Given the description of an element on the screen output the (x, y) to click on. 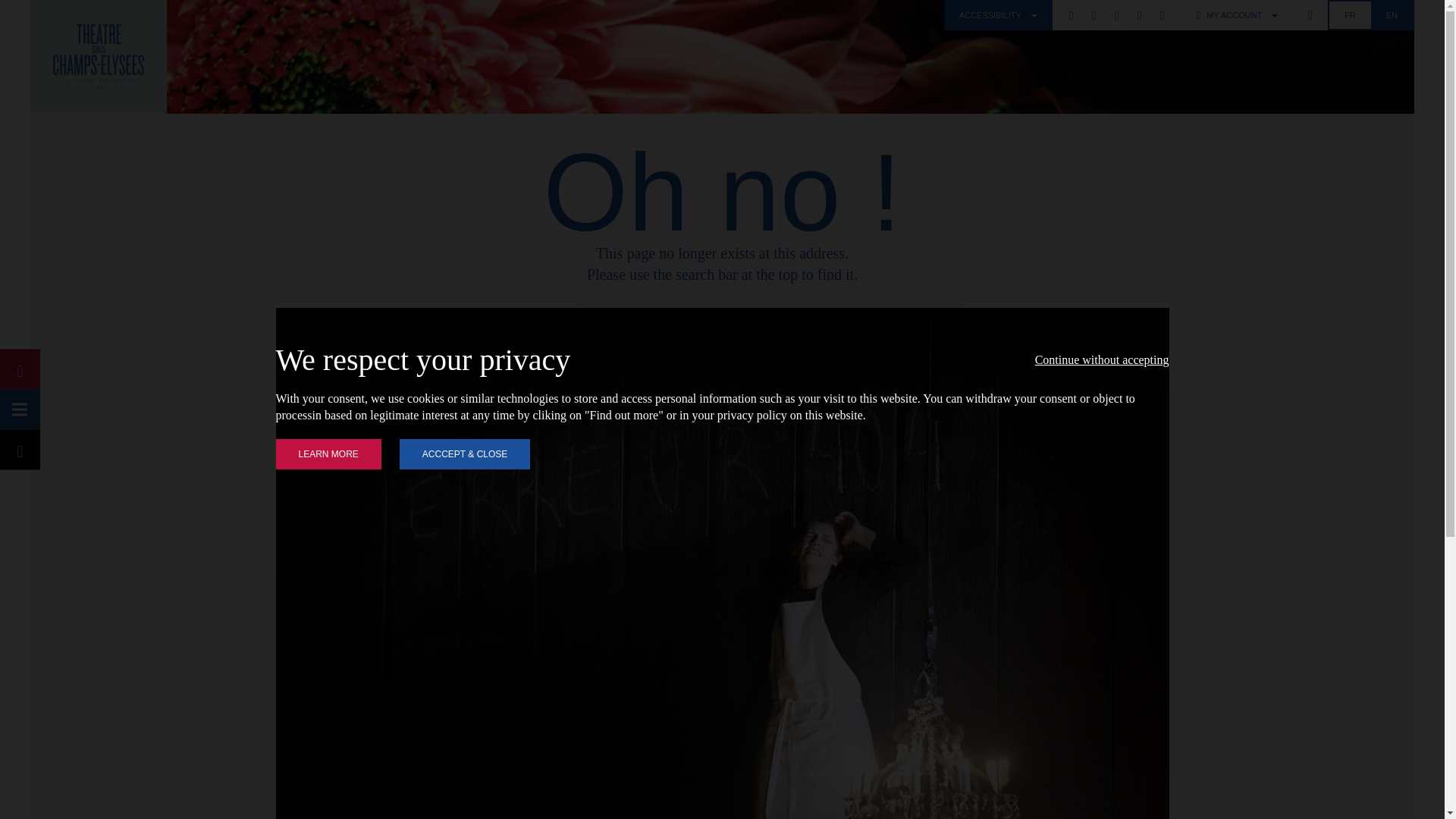
MY ACCOUNT (1237, 15)
Search (1309, 15)
SEARCH (20, 449)
Continue without accepting (1102, 360)
CALENDAR (20, 368)
ACCESSIBILITY (997, 15)
FR (1350, 14)
LEARN MORE (328, 453)
MENU (20, 409)
Aller au header (66, 12)
